Given the description of an element on the screen output the (x, y) to click on. 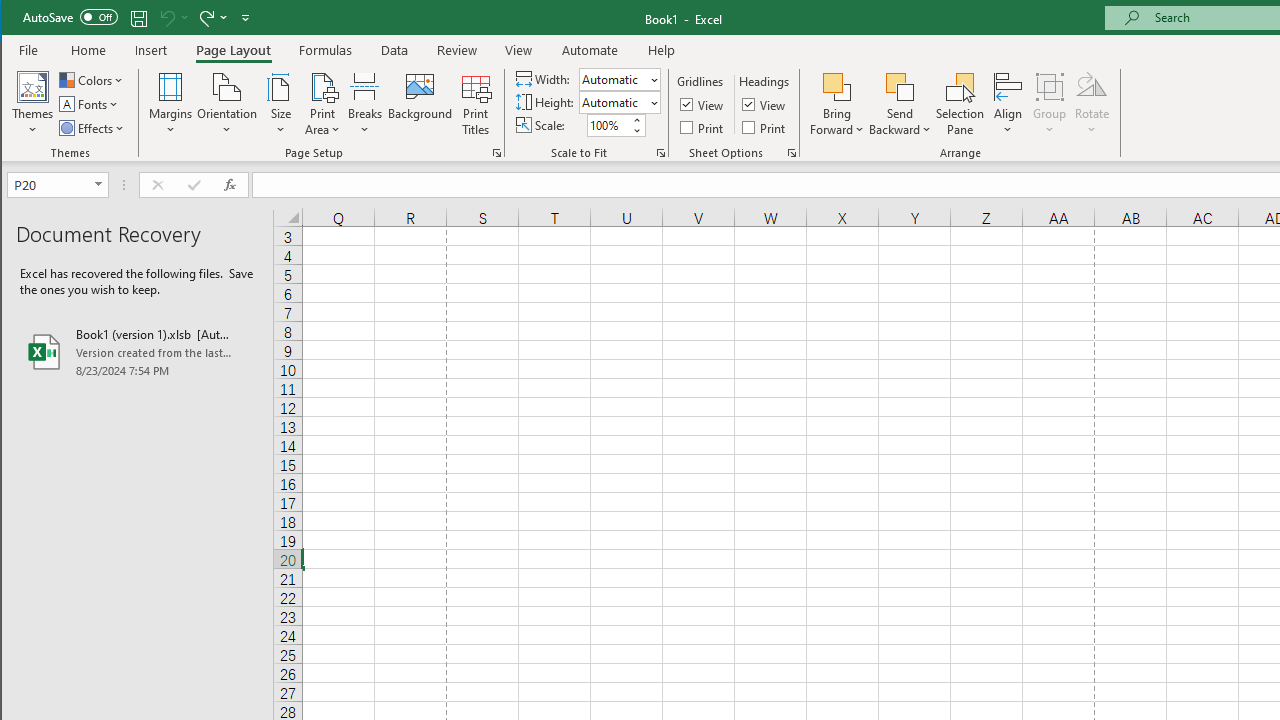
Rotate (1092, 104)
Automate (589, 50)
Group (1050, 104)
Print Area (323, 104)
Fonts (90, 103)
Background... (420, 104)
